Given the description of an element on the screen output the (x, y) to click on. 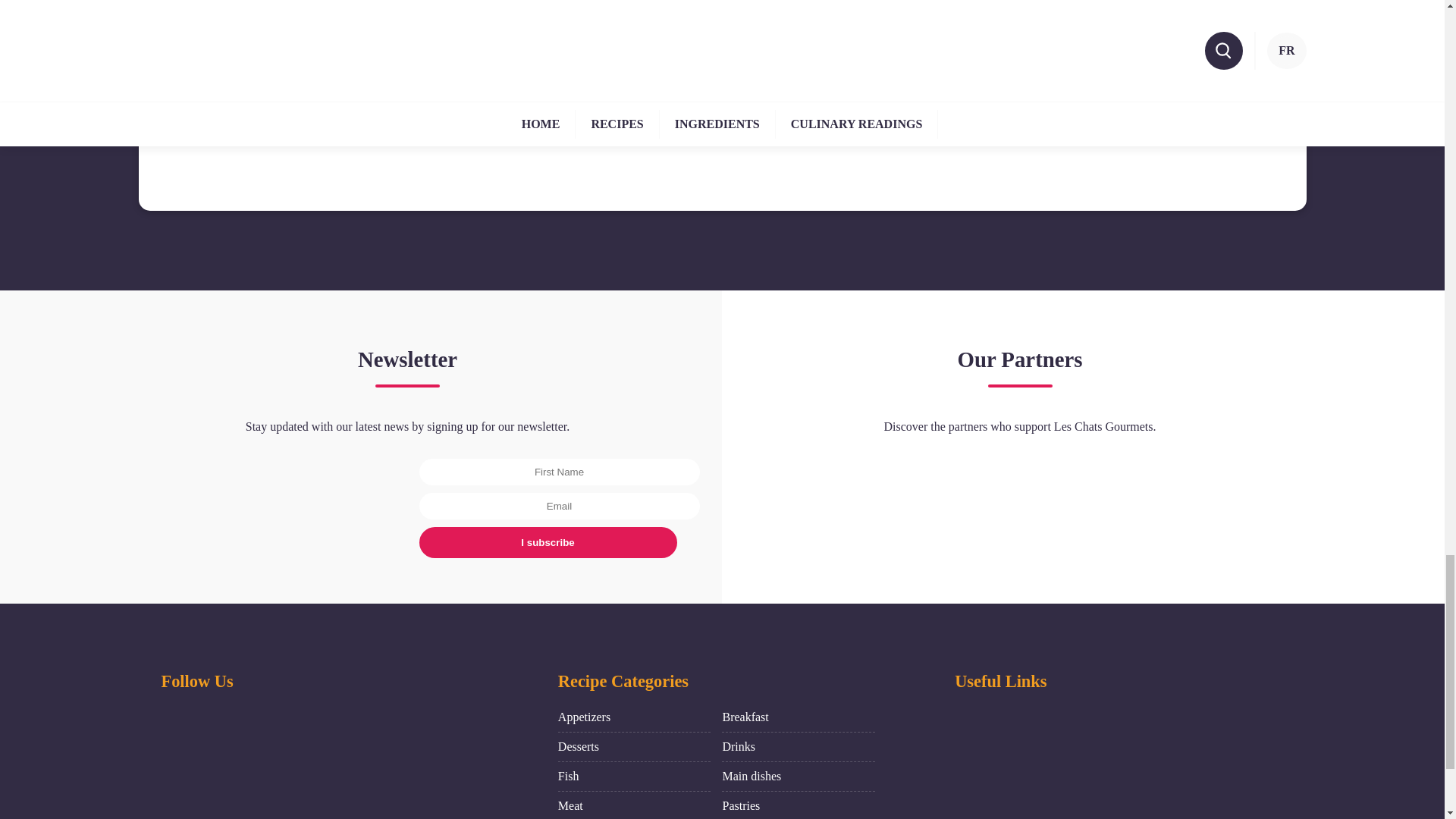
I subscribe (548, 542)
